Given the description of an element on the screen output the (x, y) to click on. 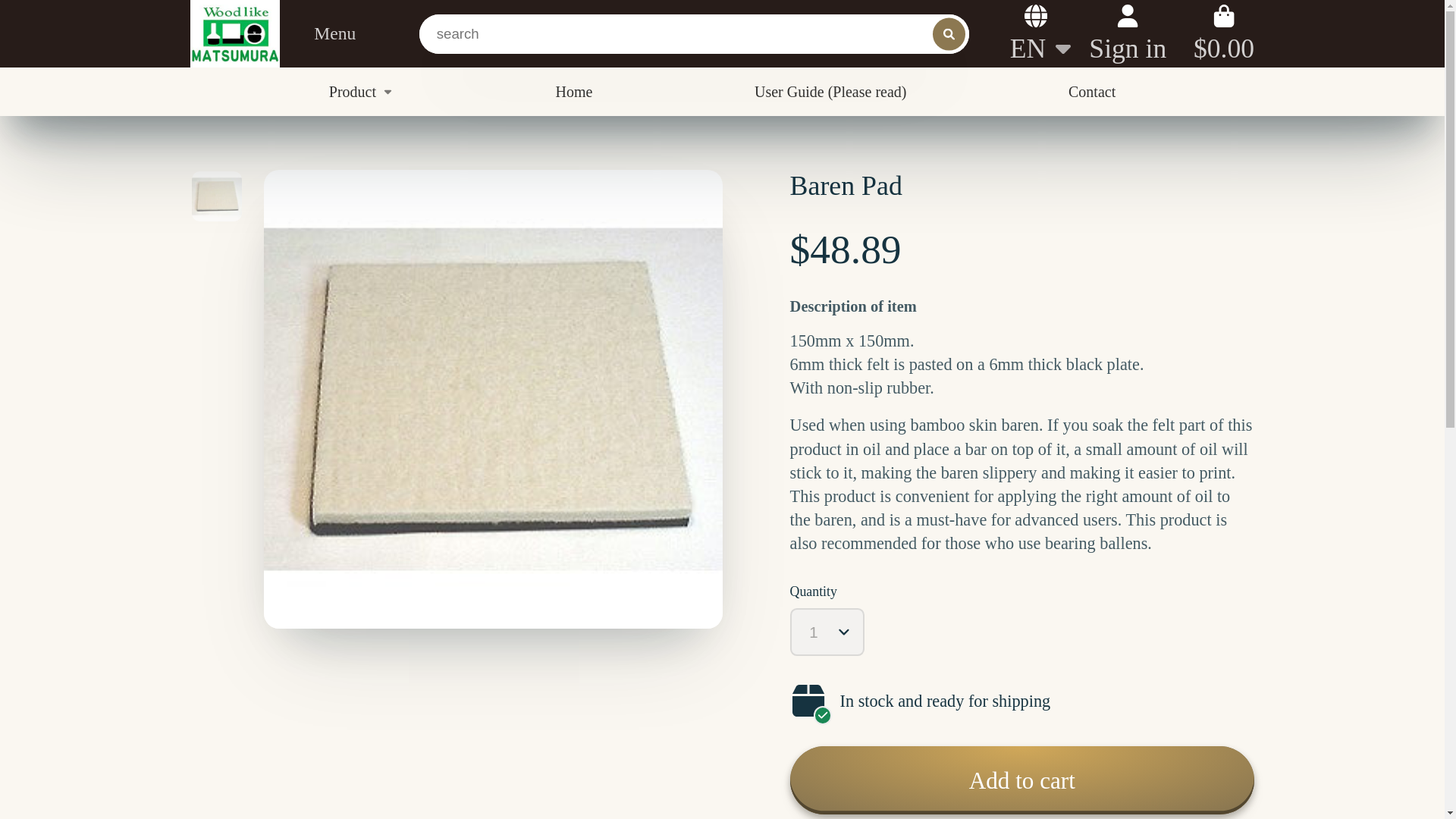
Product (361, 91)
Account (1127, 33)
Logo (234, 33)
Cart (1223, 33)
